Given the description of an element on the screen output the (x, y) to click on. 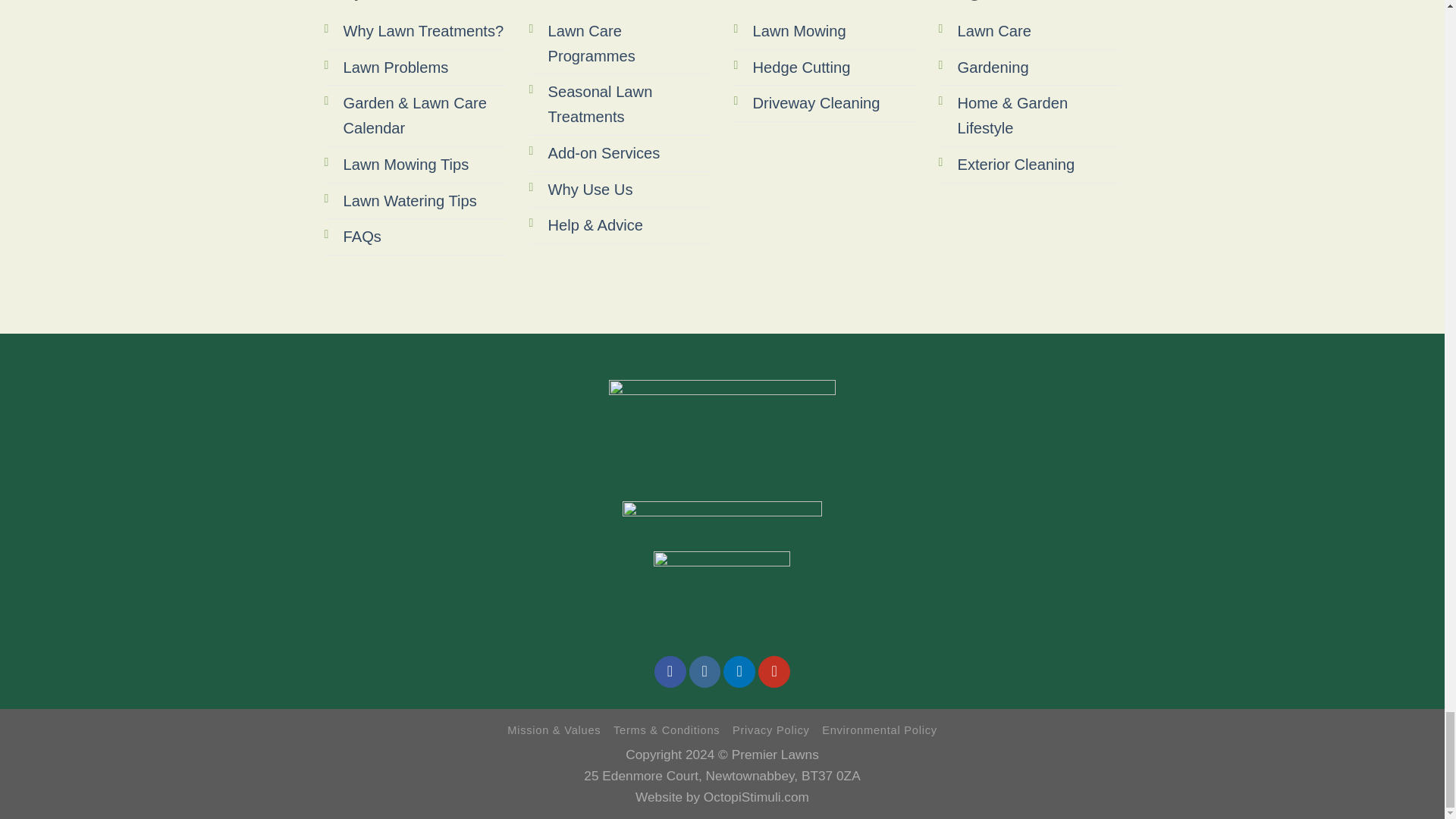
Follow on LinkedIn (739, 671)
Follow on Facebook (669, 671)
Follow on Instagram (704, 671)
Follow on YouTube (774, 671)
